Given the description of an element on the screen output the (x, y) to click on. 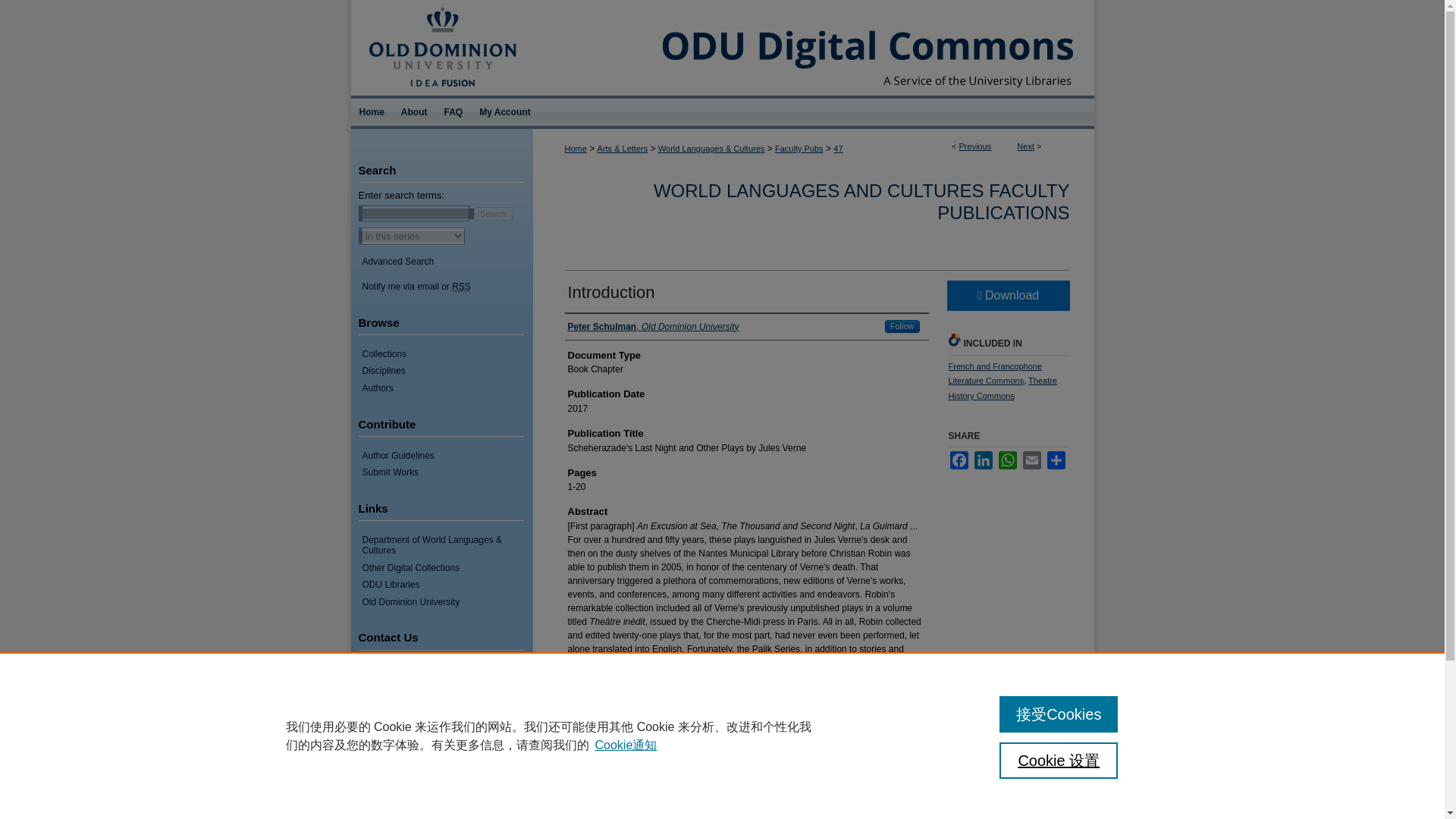
Next (1024, 145)
Collections (447, 353)
Search (493, 213)
FAQ (452, 111)
ODU Digital Commons (812, 47)
Follow Peter Schulman (902, 326)
FAQ (452, 111)
Faculty Pubs (799, 148)
My Account (504, 111)
Search (493, 213)
Disciplines (447, 370)
Email (1031, 460)
Home (370, 111)
Notify me via email or RSS (447, 286)
Old Dominion University (441, 6)
